Given the description of an element on the screen output the (x, y) to click on. 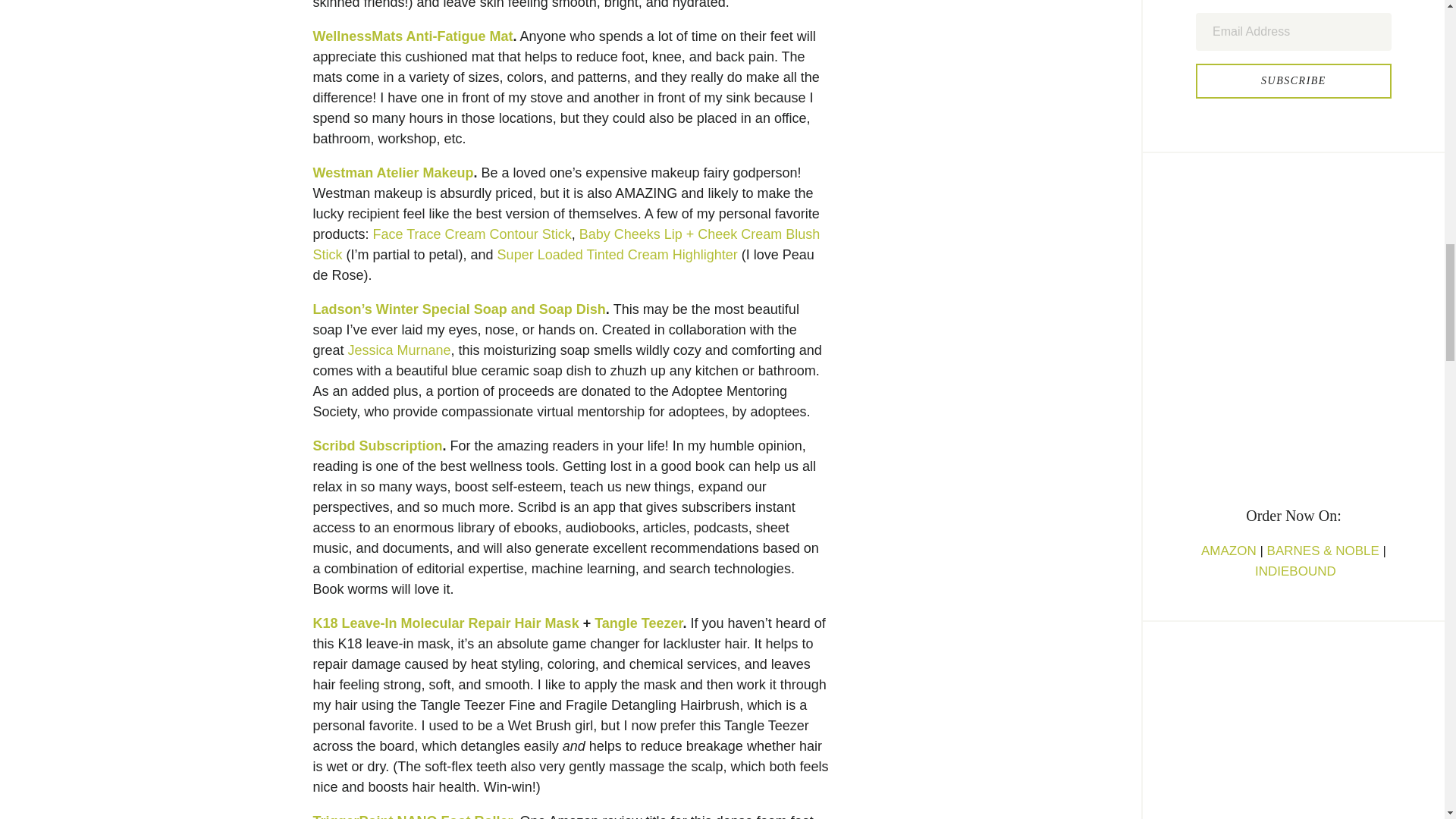
Super Loaded Tinted Cream Highlighter (617, 254)
Jessica Murnane (399, 350)
Face Trace Cream Contour Stick (472, 233)
Westman Atelier Makeup (393, 172)
WellnessMats Anti-Fatigue Mat (412, 36)
